Given the description of an element on the screen output the (x, y) to click on. 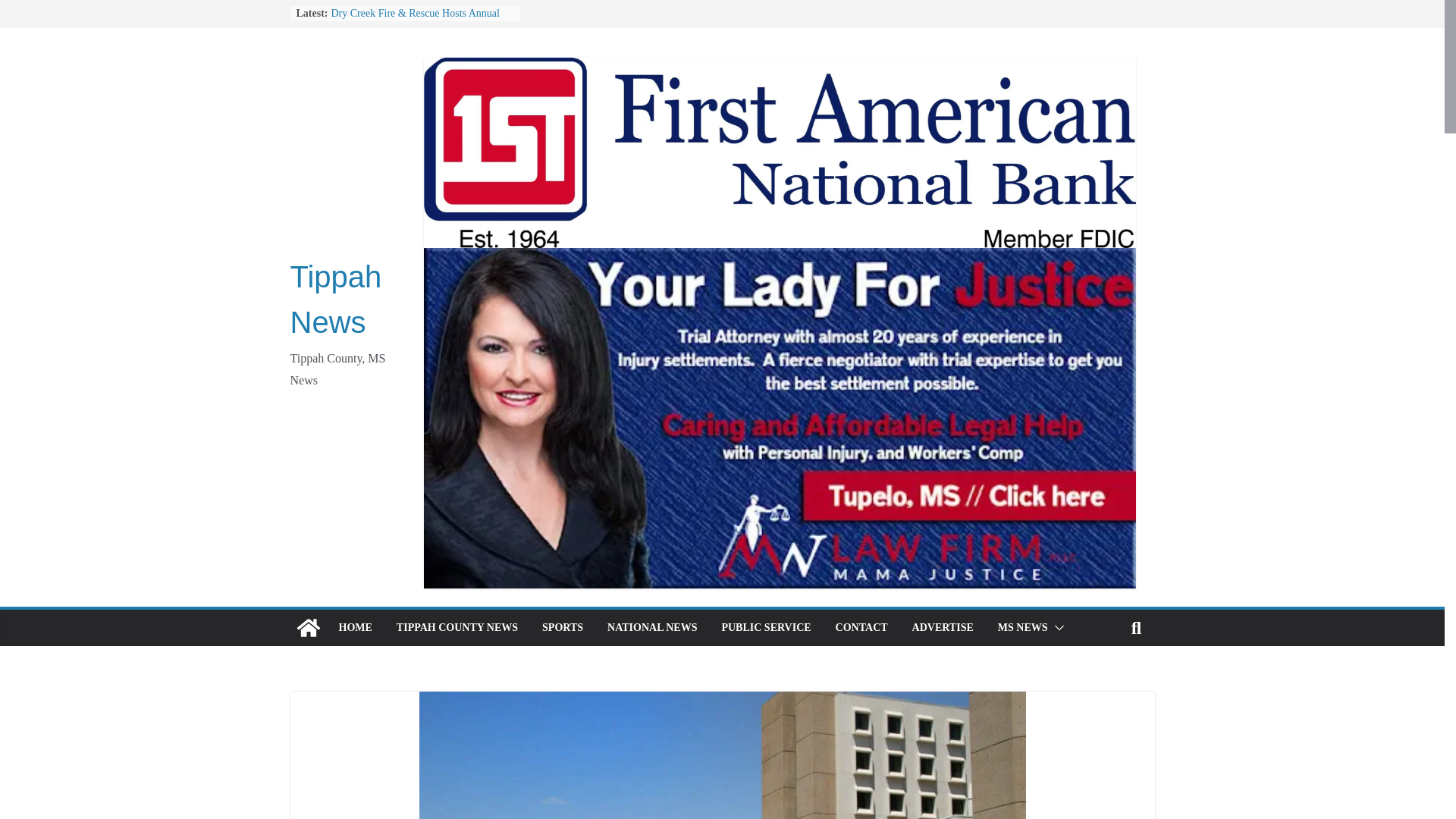
HOME (354, 627)
MS NEWS (1022, 627)
Tippah News (335, 299)
NATIONAL NEWS (652, 627)
PUBLIC SERVICE (765, 627)
Tippah News (335, 299)
CONTACT (861, 627)
SPORTS (562, 627)
ADVERTISE (943, 627)
TIPPAH COUNTY NEWS (457, 627)
Tippah News (307, 627)
